Given the description of an element on the screen output the (x, y) to click on. 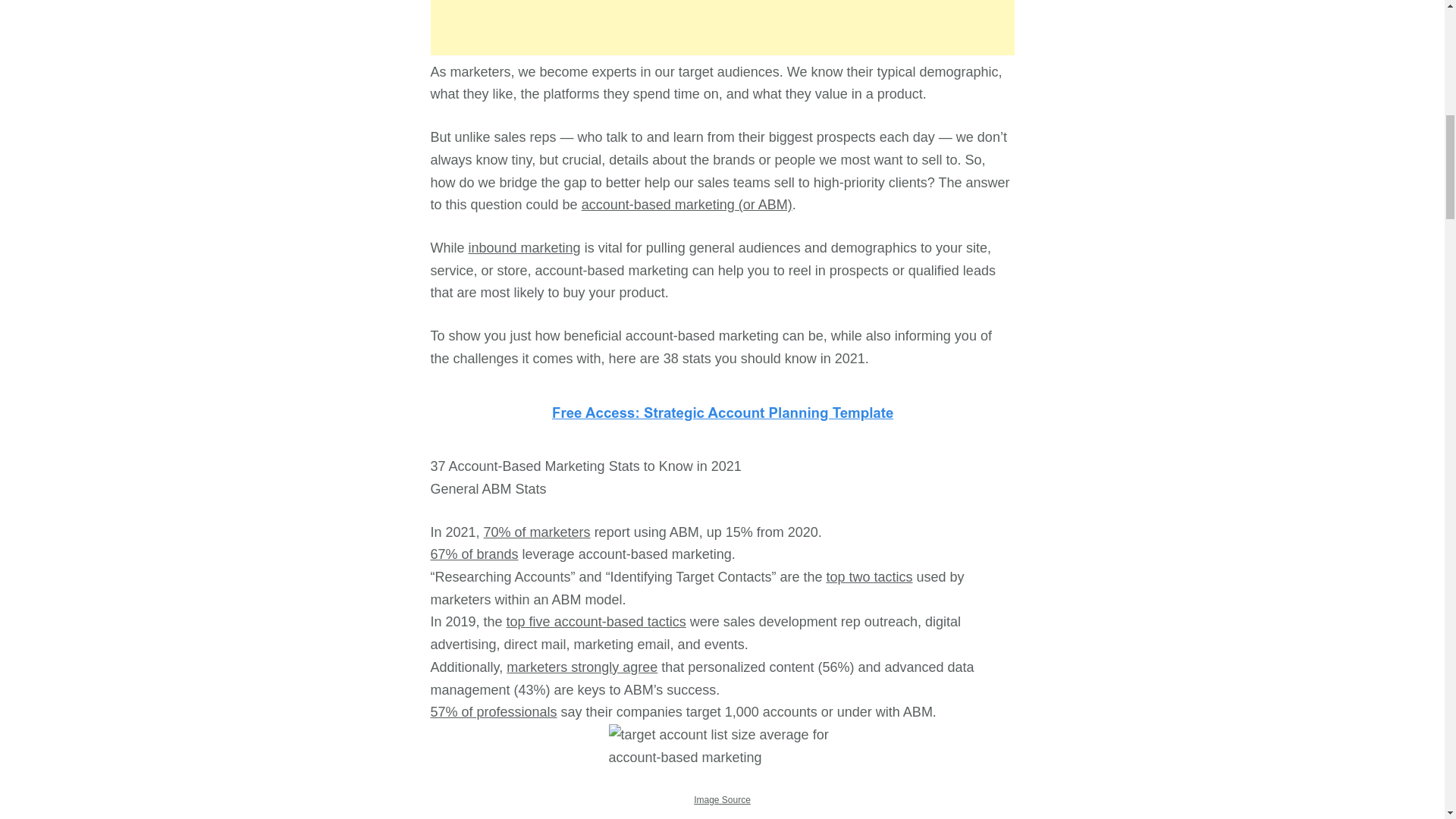
top two tactics (868, 576)
inbound marketing (524, 247)
Advertisement (722, 27)
Image Source (722, 799)
top five account-based tactics (595, 621)
marketers strongly agree (582, 667)
